Given the description of an element on the screen output the (x, y) to click on. 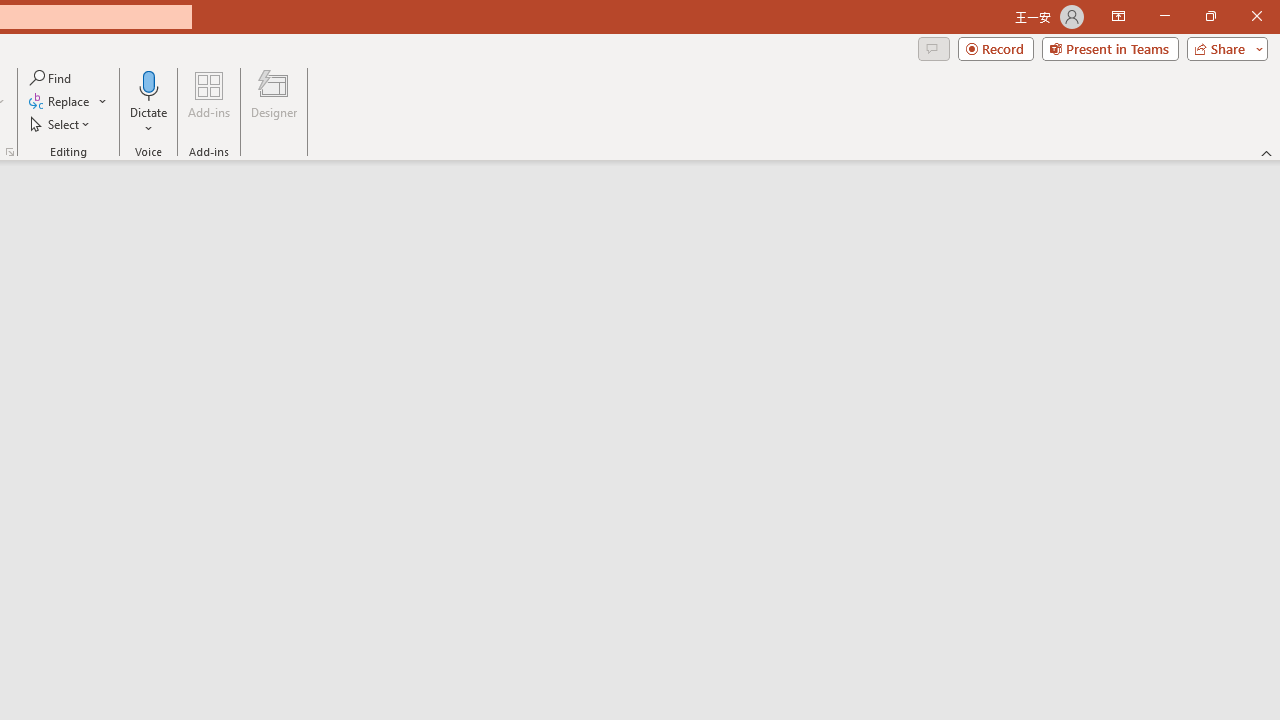
Designer (274, 102)
Format Object... (9, 151)
